Given the description of an element on the screen output the (x, y) to click on. 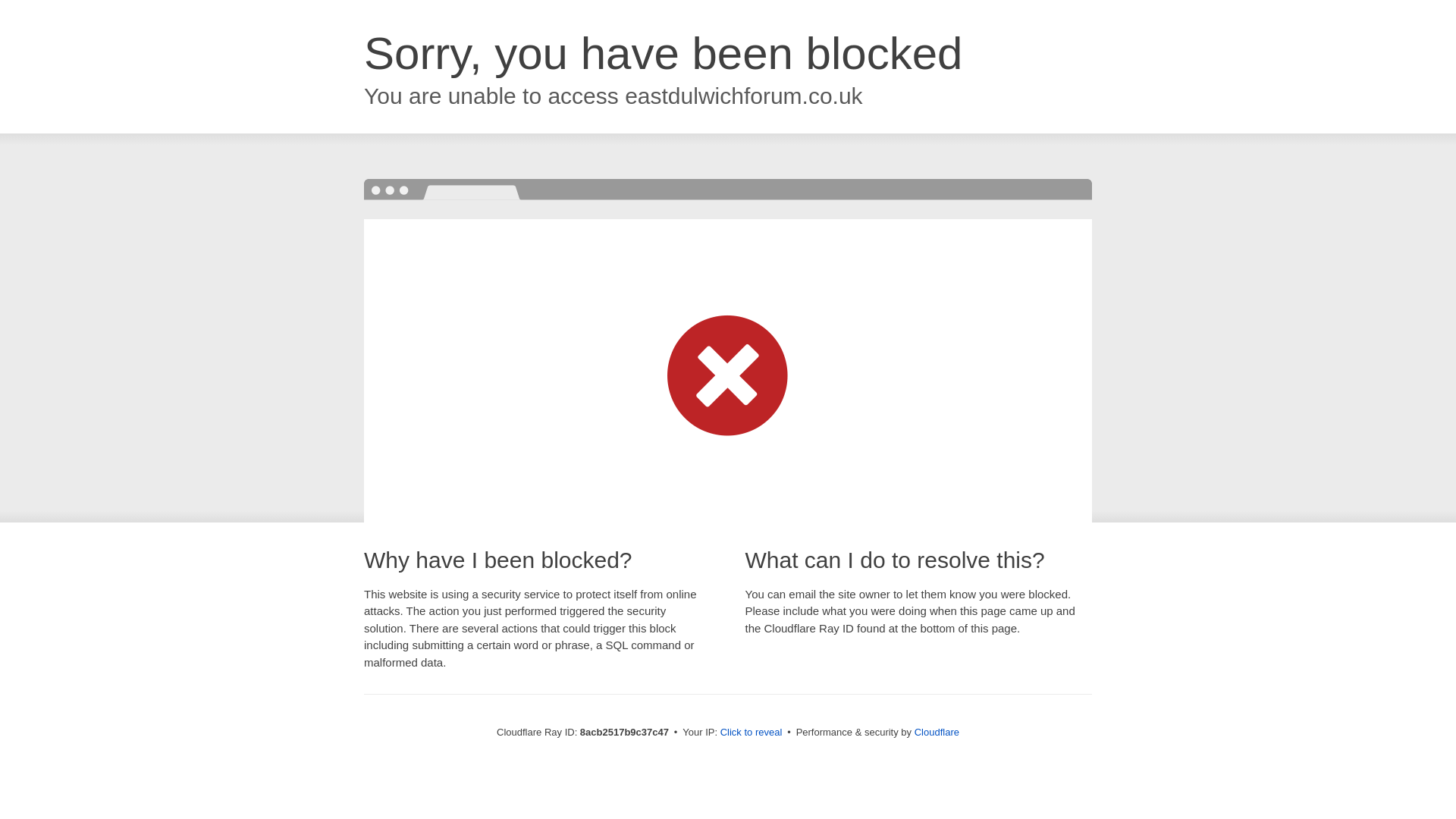
Click to reveal (751, 732)
Cloudflare (936, 731)
